Given the description of an element on the screen output the (x, y) to click on. 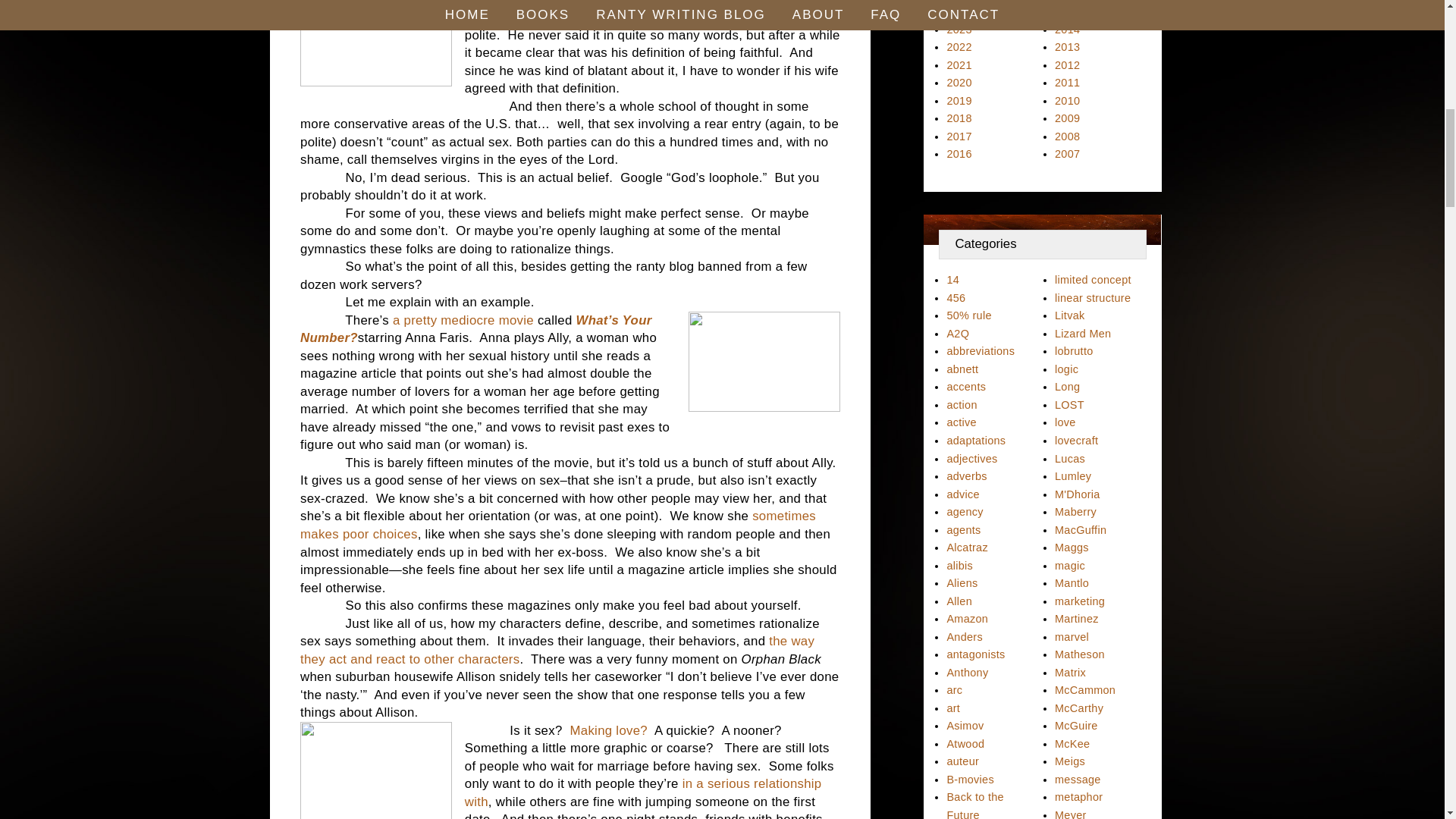
the way they act and react to other characters (556, 649)
a pretty mediocre movie (465, 319)
sometimes makes poor choices (557, 524)
Making love? (608, 730)
in a serious relationship with (643, 792)
